Given the description of an element on the screen output the (x, y) to click on. 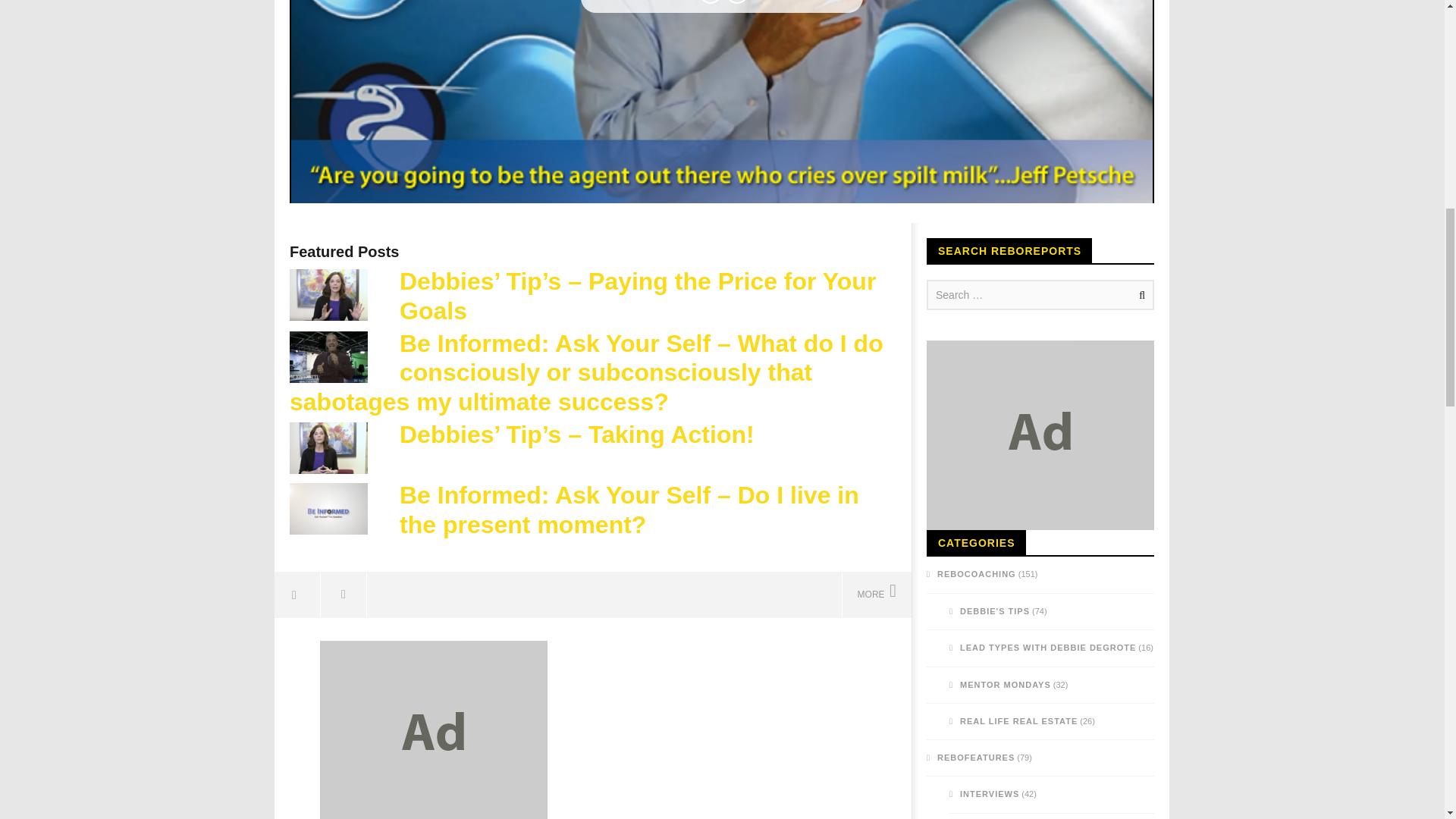
Search (1139, 294)
MORE  (876, 594)
Search (1139, 294)
